Given the description of an element on the screen output the (x, y) to click on. 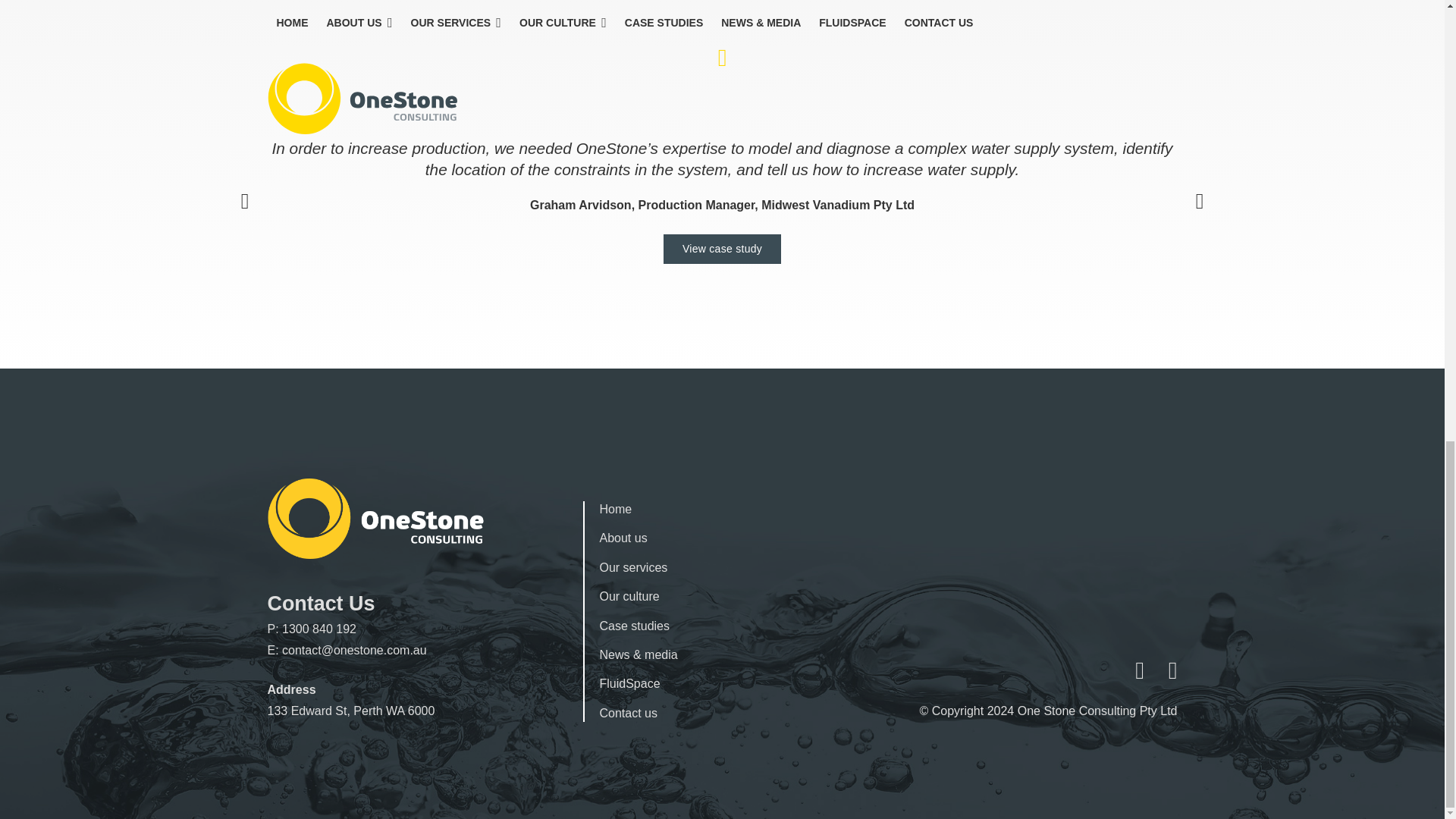
Case studies (633, 625)
Our culture (628, 595)
Our services (632, 567)
About us (622, 537)
FluidSpace (628, 683)
Home (614, 508)
View case study (721, 248)
